Given the description of an element on the screen output the (x, y) to click on. 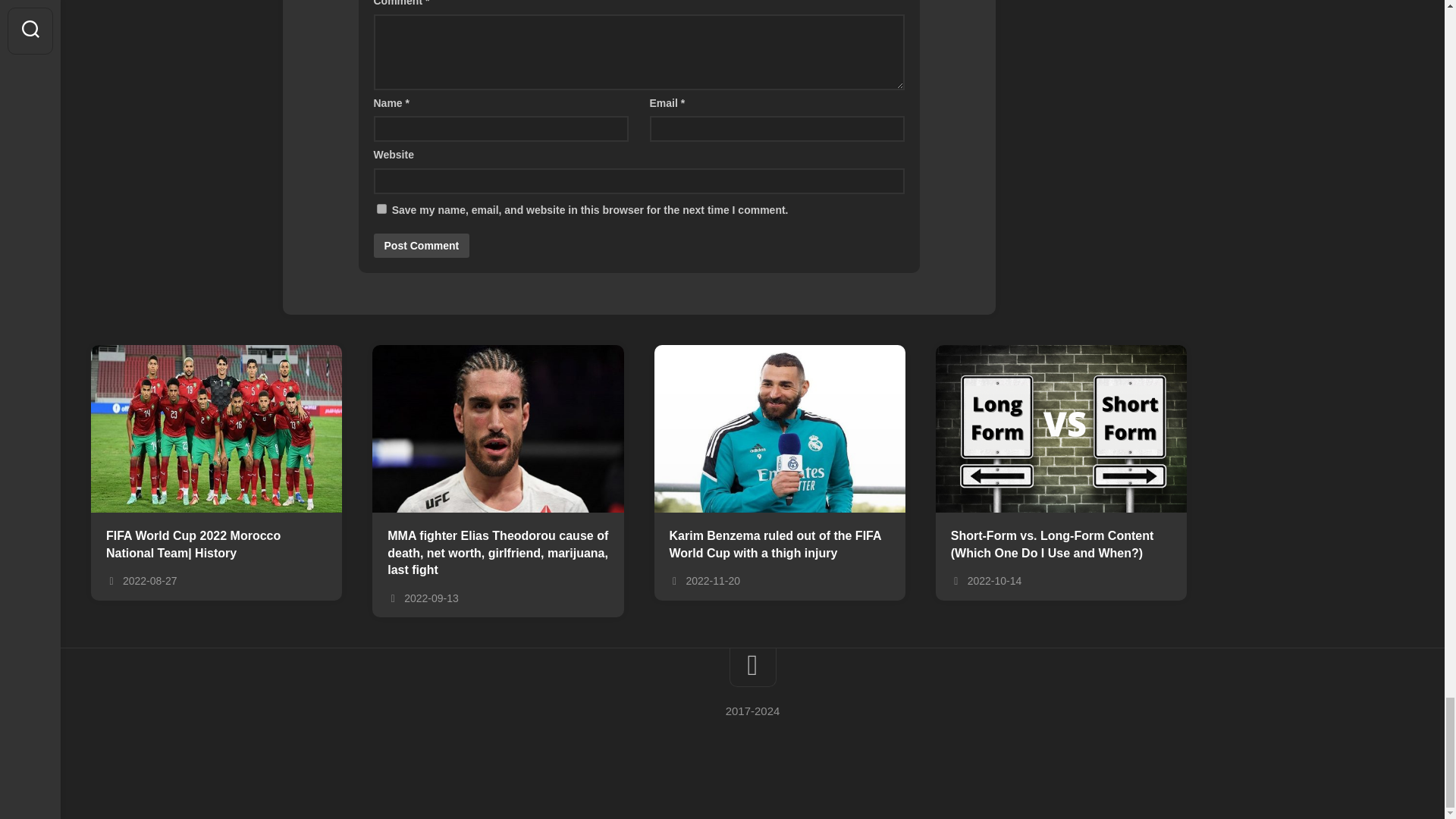
yes (380, 208)
Post Comment (420, 245)
